Given the description of an element on the screen output the (x, y) to click on. 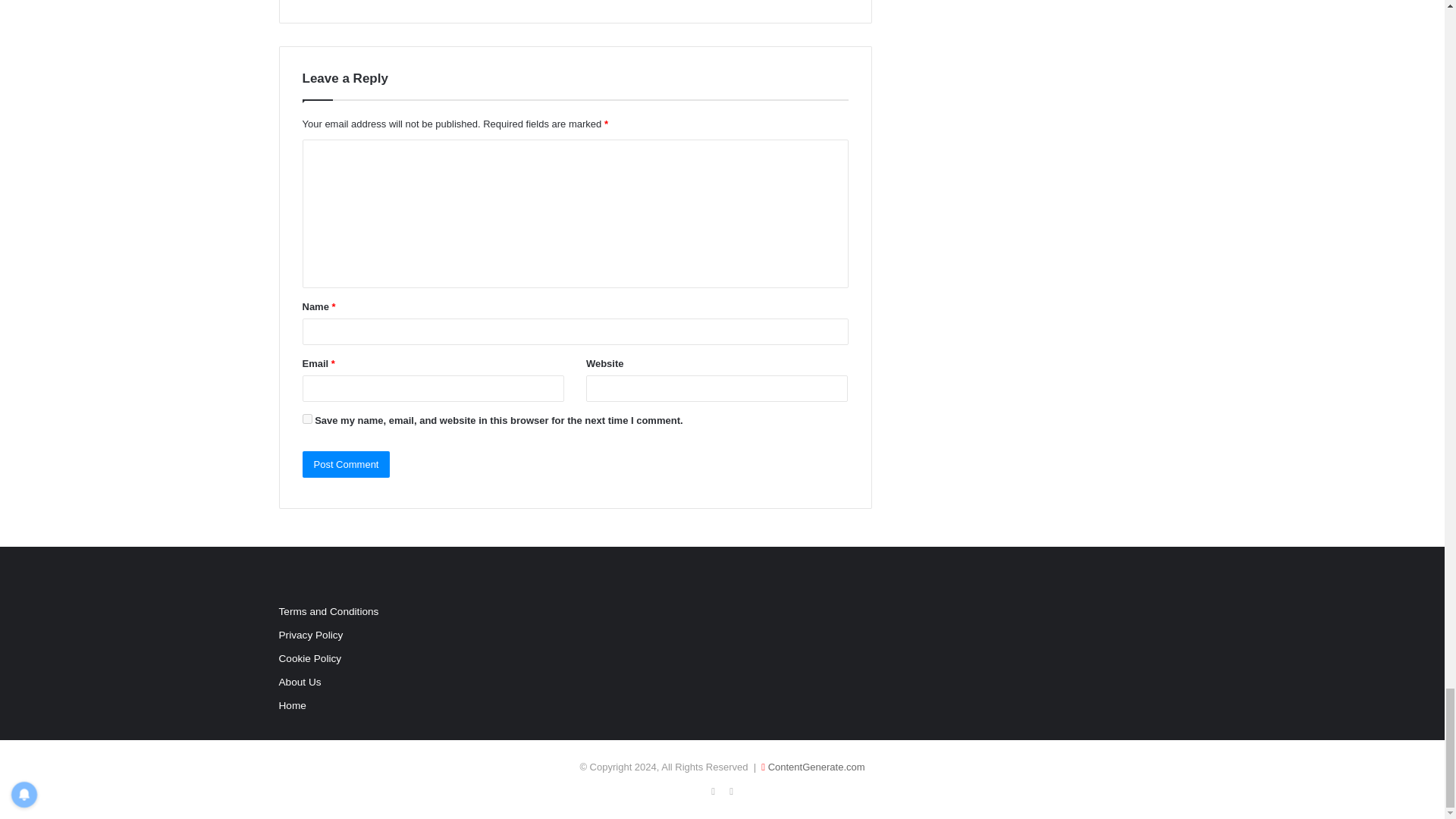
Post Comment (345, 464)
yes (306, 419)
